Given the description of an element on the screen output the (x, y) to click on. 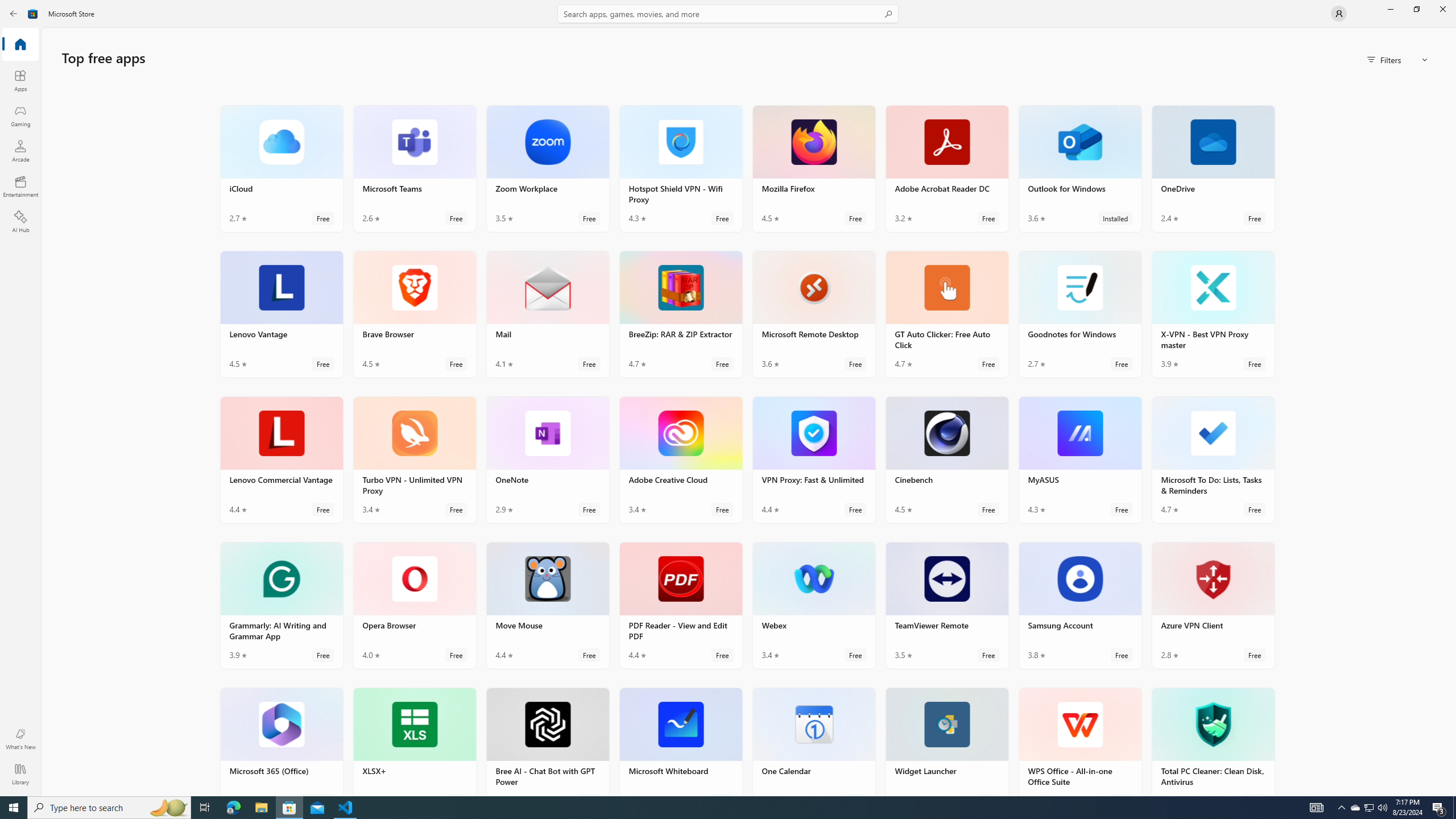
Arcade (20, 150)
Apps (20, 80)
Filters (1397, 59)
Close Microsoft Store (1442, 9)
iCloud. Average rating of 2.7 out of five stars. Free   (281, 167)
XLSX+. Average rating of 4.6 out of five stars. Free   (414, 741)
What's New (20, 738)
